Given the description of an element on the screen output the (x, y) to click on. 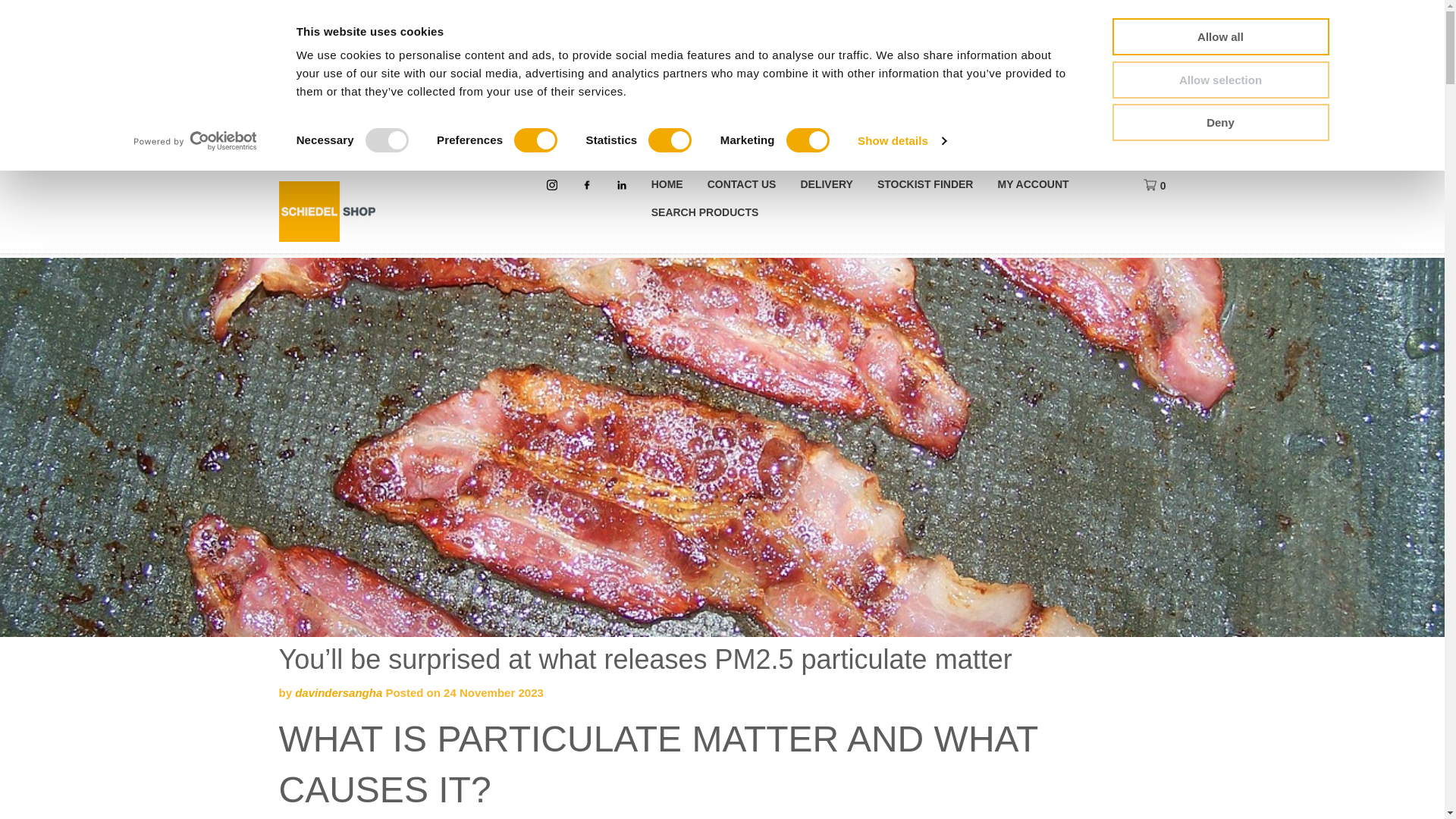
Show details (900, 140)
